Given the description of an element on the screen output the (x, y) to click on. 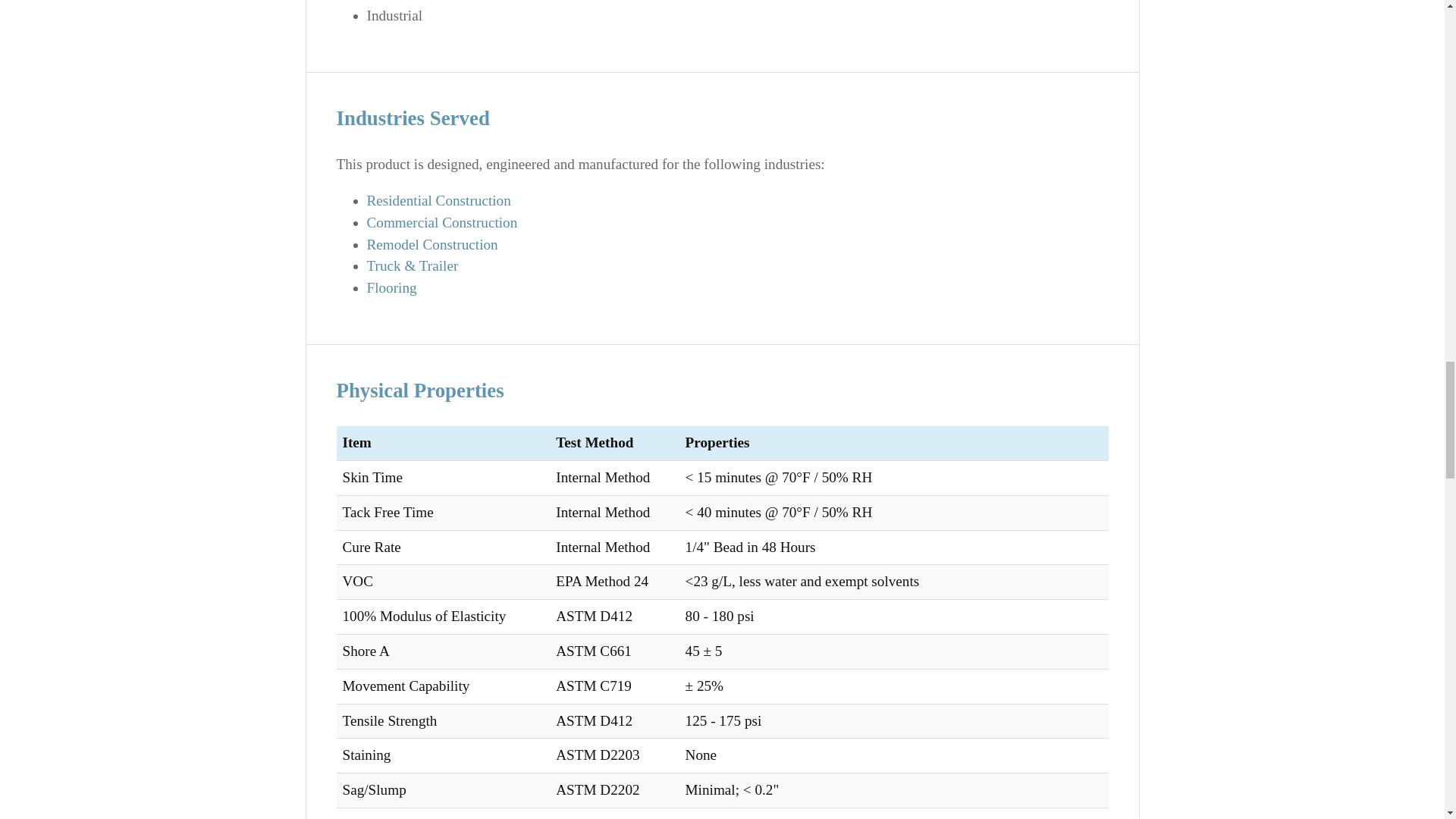
Commercial Construction (442, 222)
Remodel Construction (431, 244)
Residential Construction (438, 200)
Flooring (391, 287)
